Given the description of an element on the screen output the (x, y) to click on. 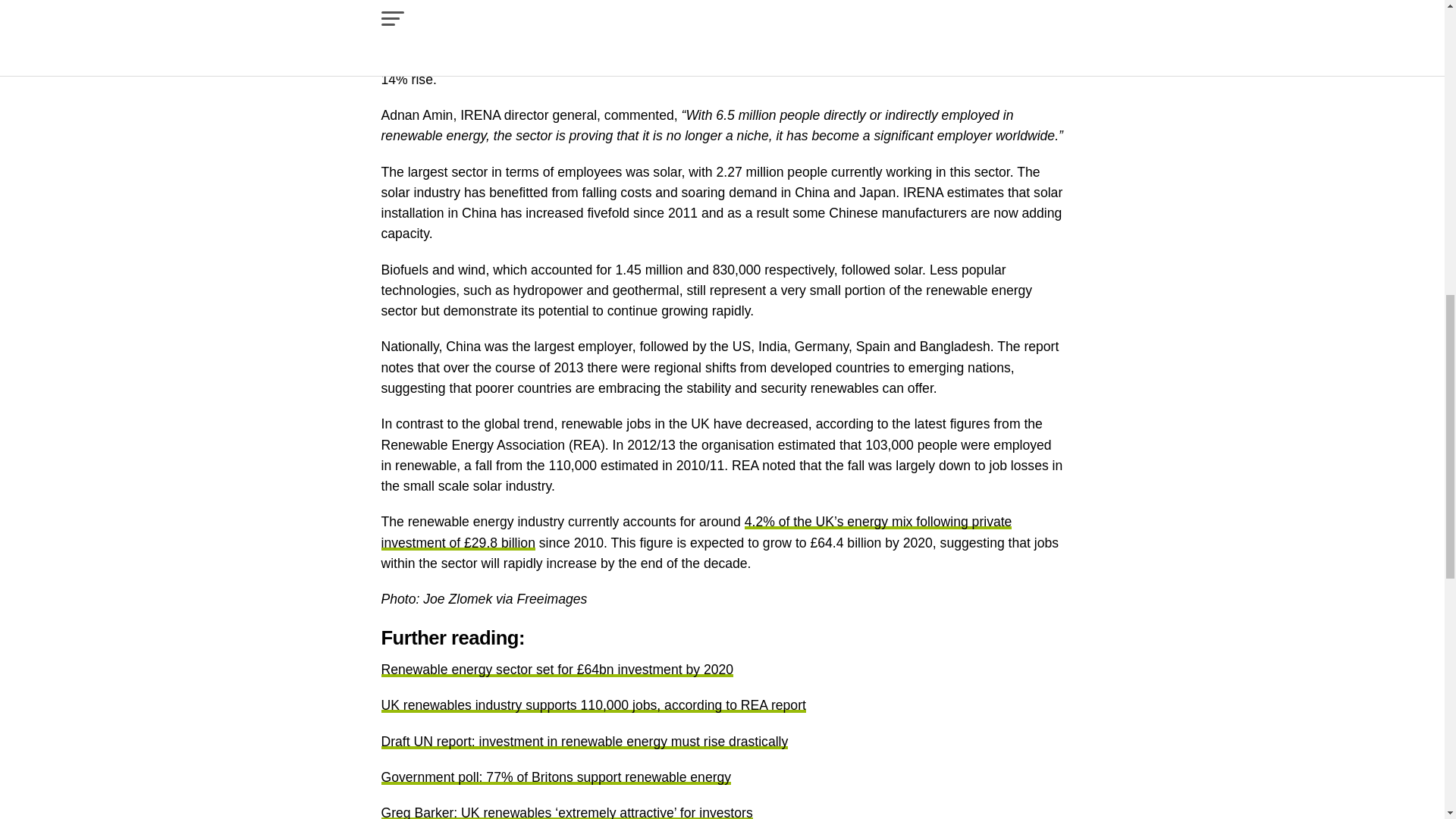
report (546, 37)
